Given the description of an element on the screen output the (x, y) to click on. 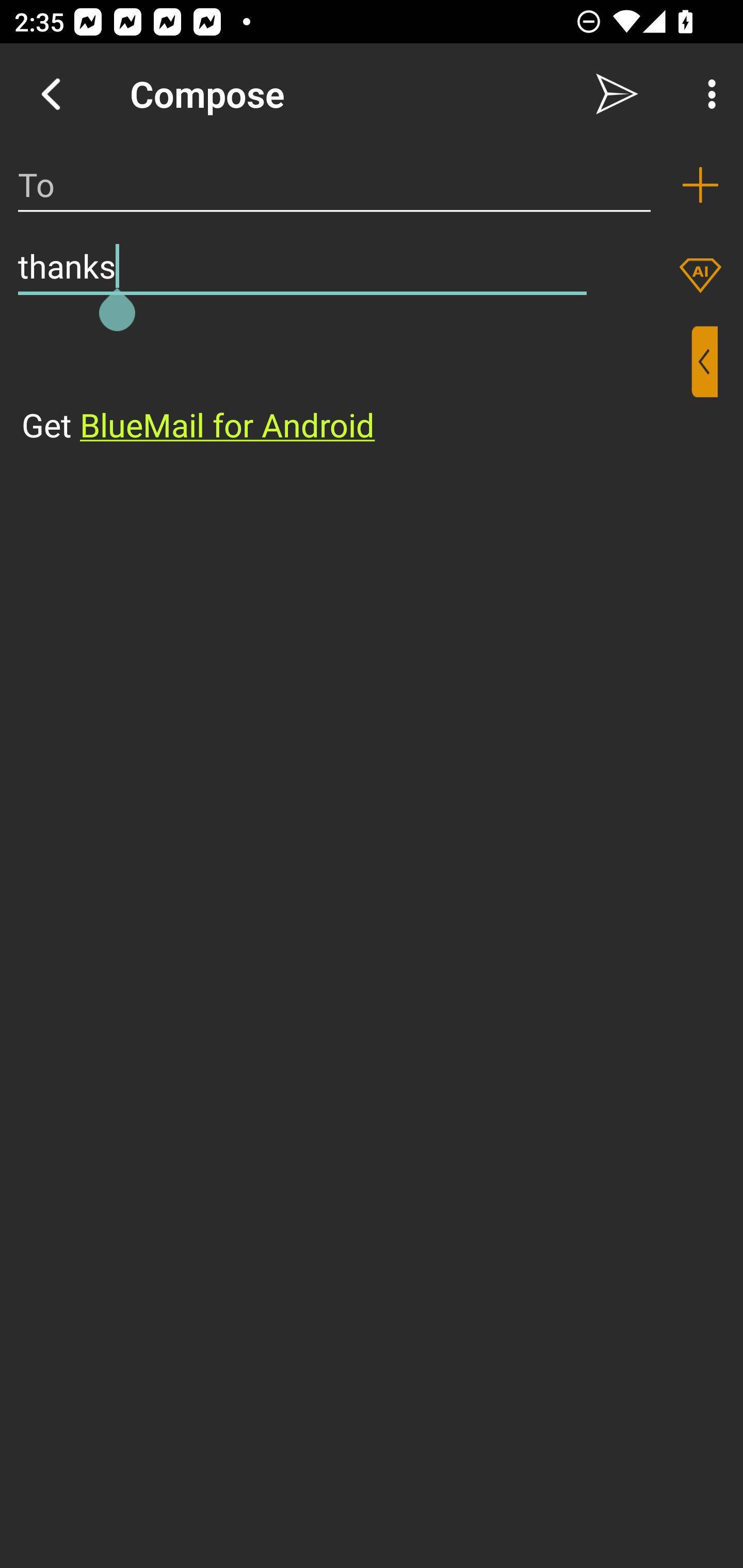
Navigate up (50, 93)
Send (616, 93)
More Options (706, 93)
To (334, 184)
Add recipient (To) (699, 184)
thanks (302, 266)


⁣Get BlueMail for Android ​ (355, 386)
